Given the description of an element on the screen output the (x, y) to click on. 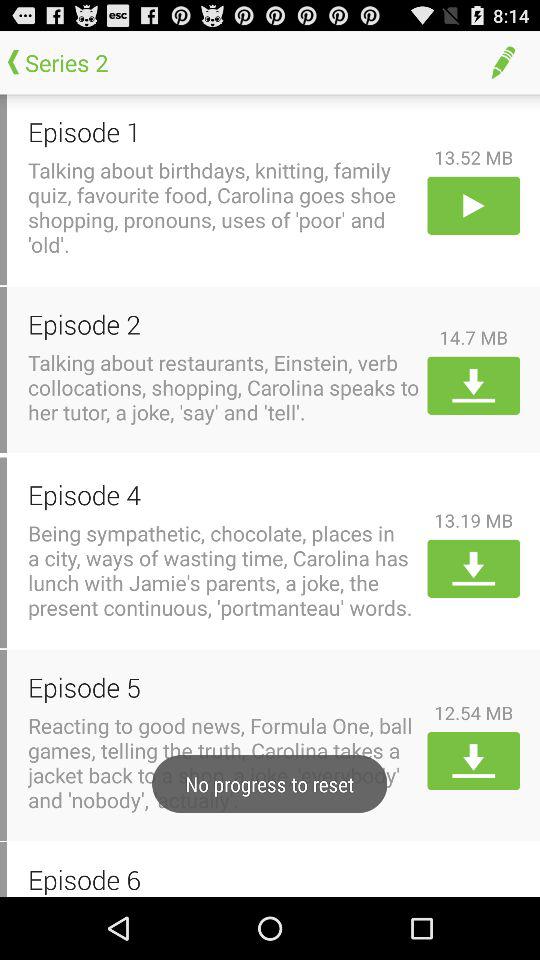
select being sympathetic chocolate app (224, 569)
